Given the description of an element on the screen output the (x, y) to click on. 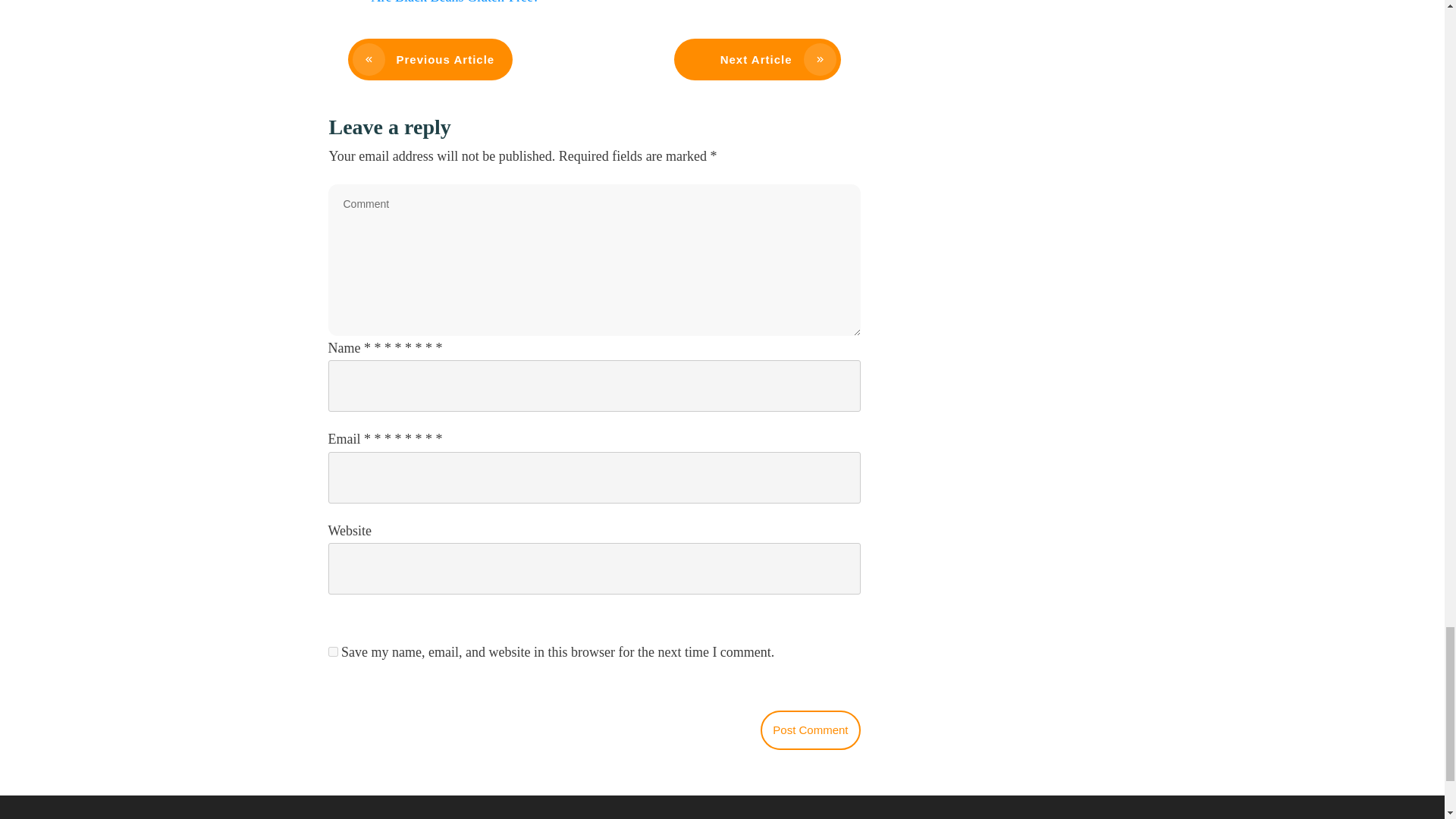
Post Comment (810, 729)
Previous Article (429, 59)
Next Article (756, 59)
yes (332, 651)
Are Black Beans Gluten-Free? (454, 2)
